Given the description of an element on the screen output the (x, y) to click on. 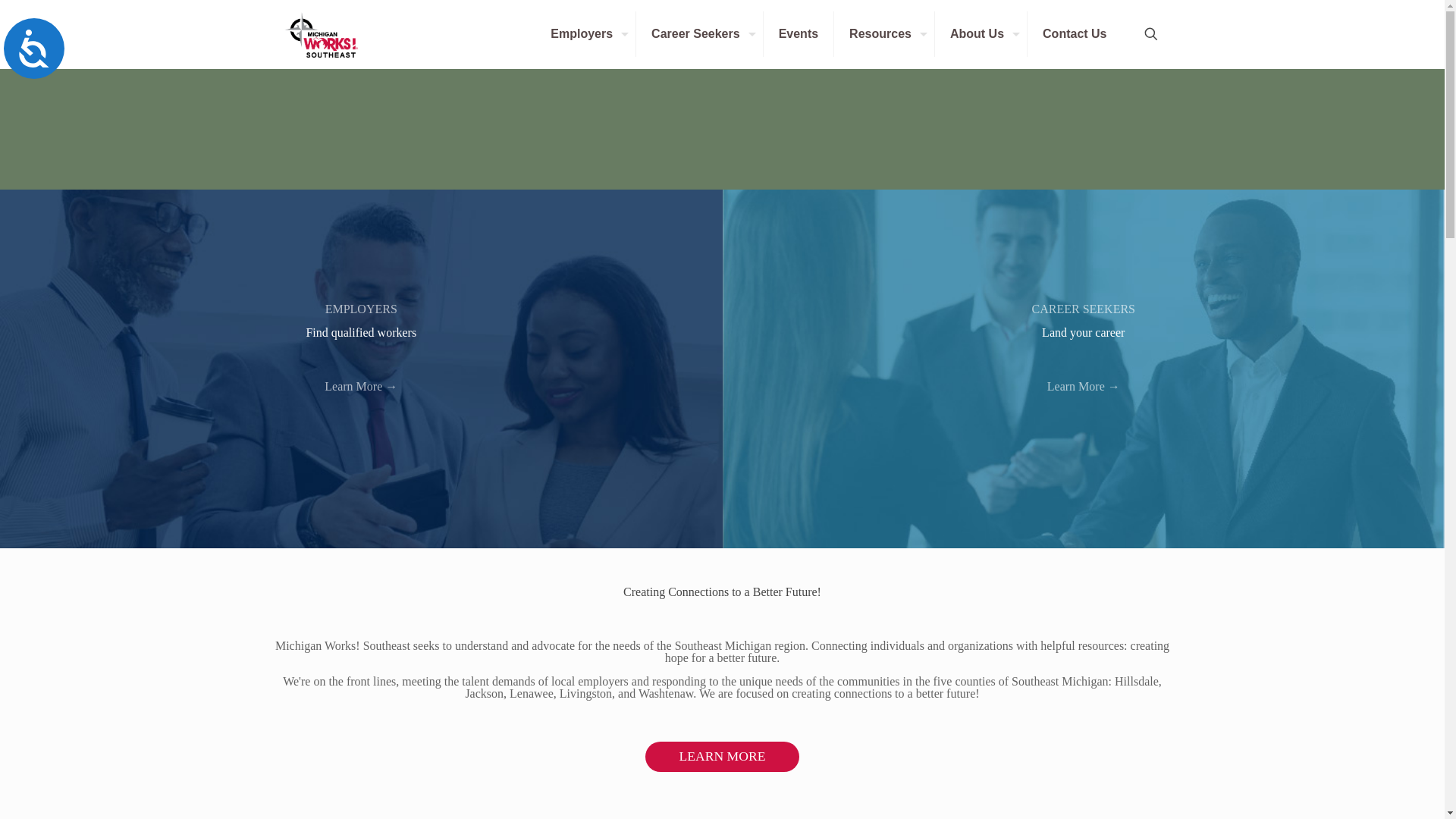
Michigan Works! Southeast (319, 33)
Employers (585, 33)
Career Seekers (699, 33)
Accessibility (34, 48)
